Given the description of an element on the screen output the (x, y) to click on. 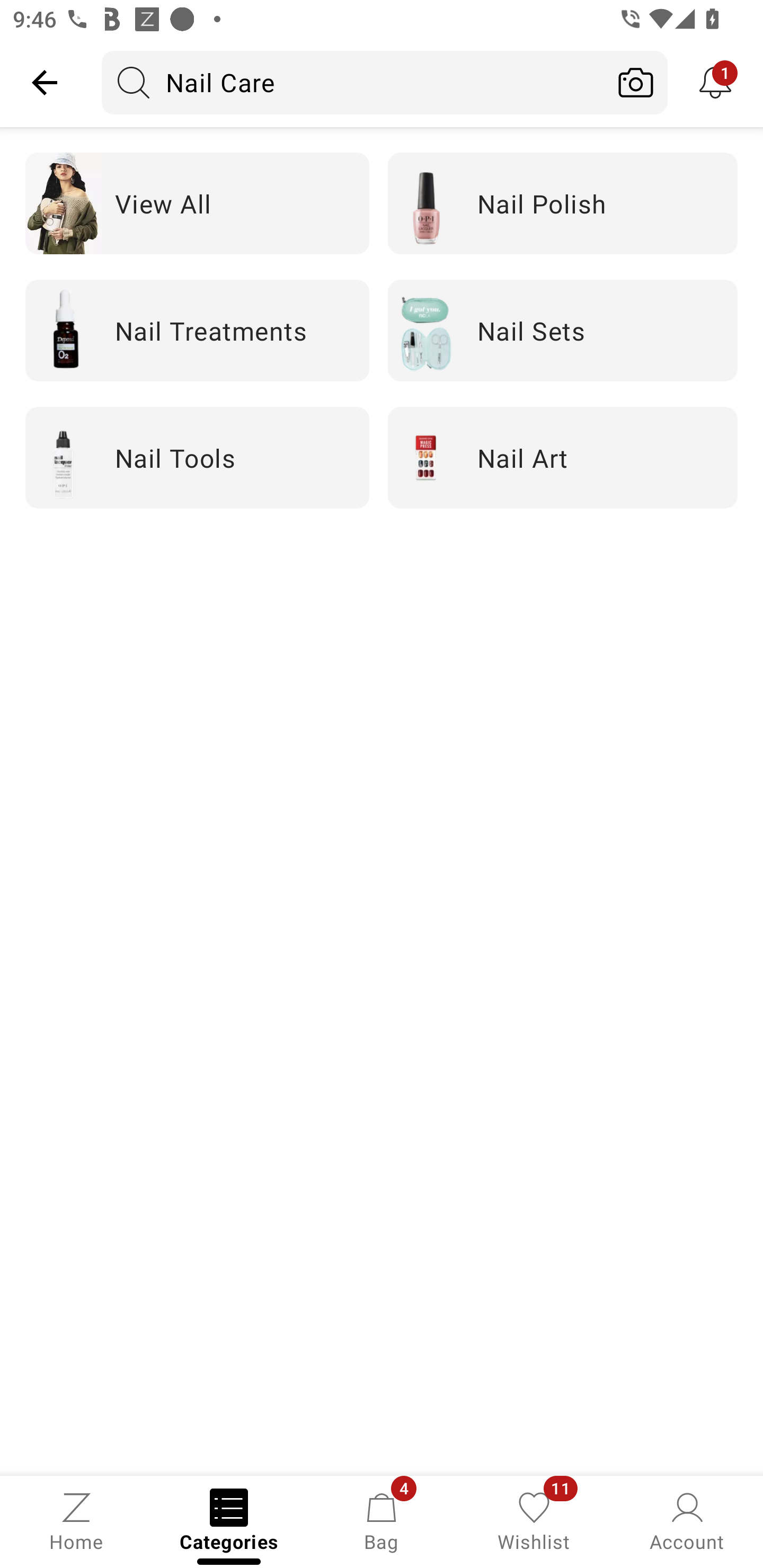
Navigate up (44, 82)
Nail Care (352, 82)
View All (197, 203)
Nail Polish (562, 203)
Nail Treatments (197, 330)
Nail Sets (562, 330)
Nail Tools (197, 457)
Nail Art (562, 457)
Home (76, 1519)
Bag, 4 new notifications Bag (381, 1519)
Wishlist, 11 new notifications Wishlist (533, 1519)
Account (686, 1519)
